Given the description of an element on the screen output the (x, y) to click on. 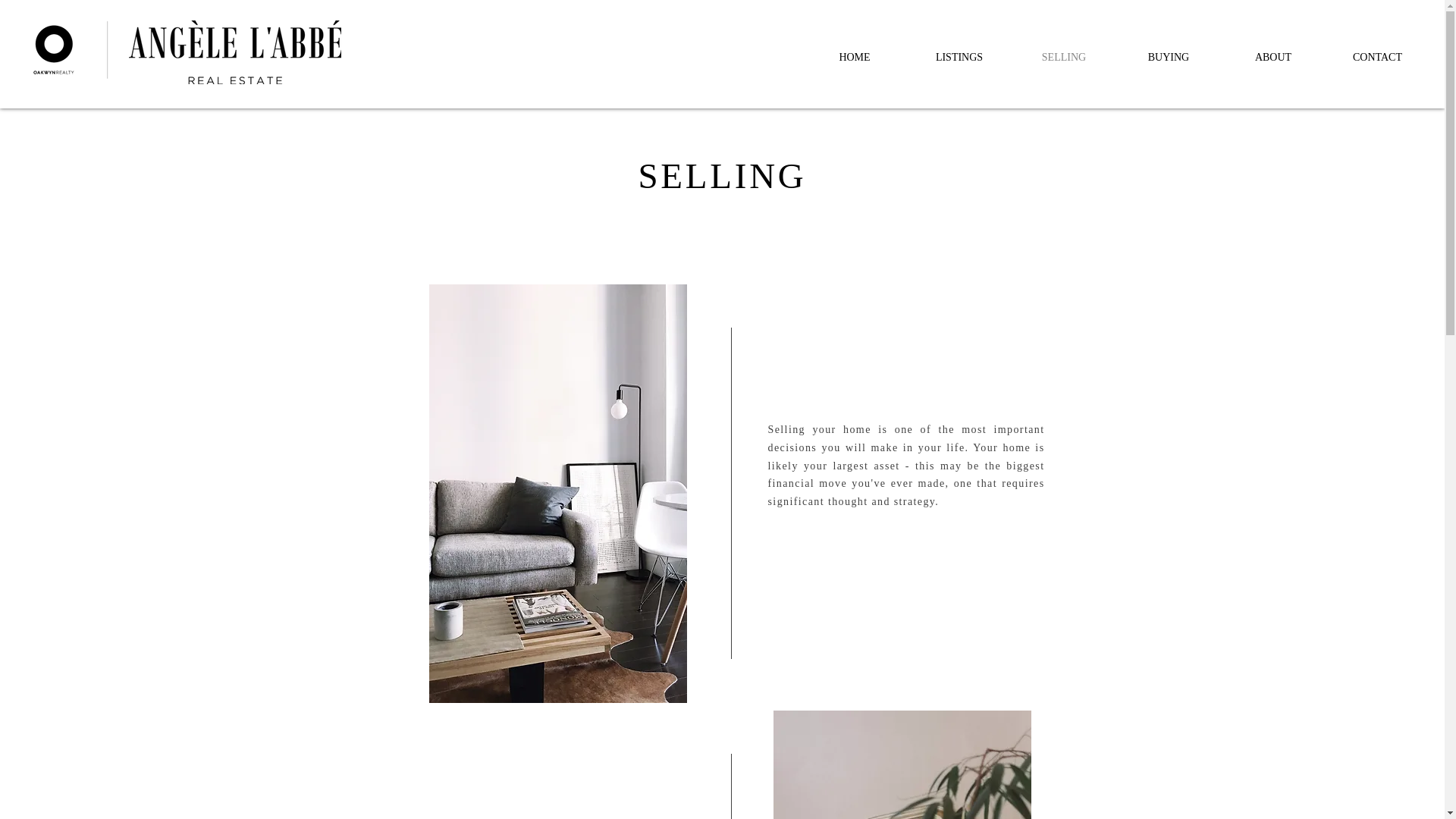
HOME (854, 56)
BUYING (1168, 56)
SELLING (1063, 56)
ABOUT (1272, 56)
LISTINGS (959, 56)
CONTACT (1376, 56)
